Given the description of an element on the screen output the (x, y) to click on. 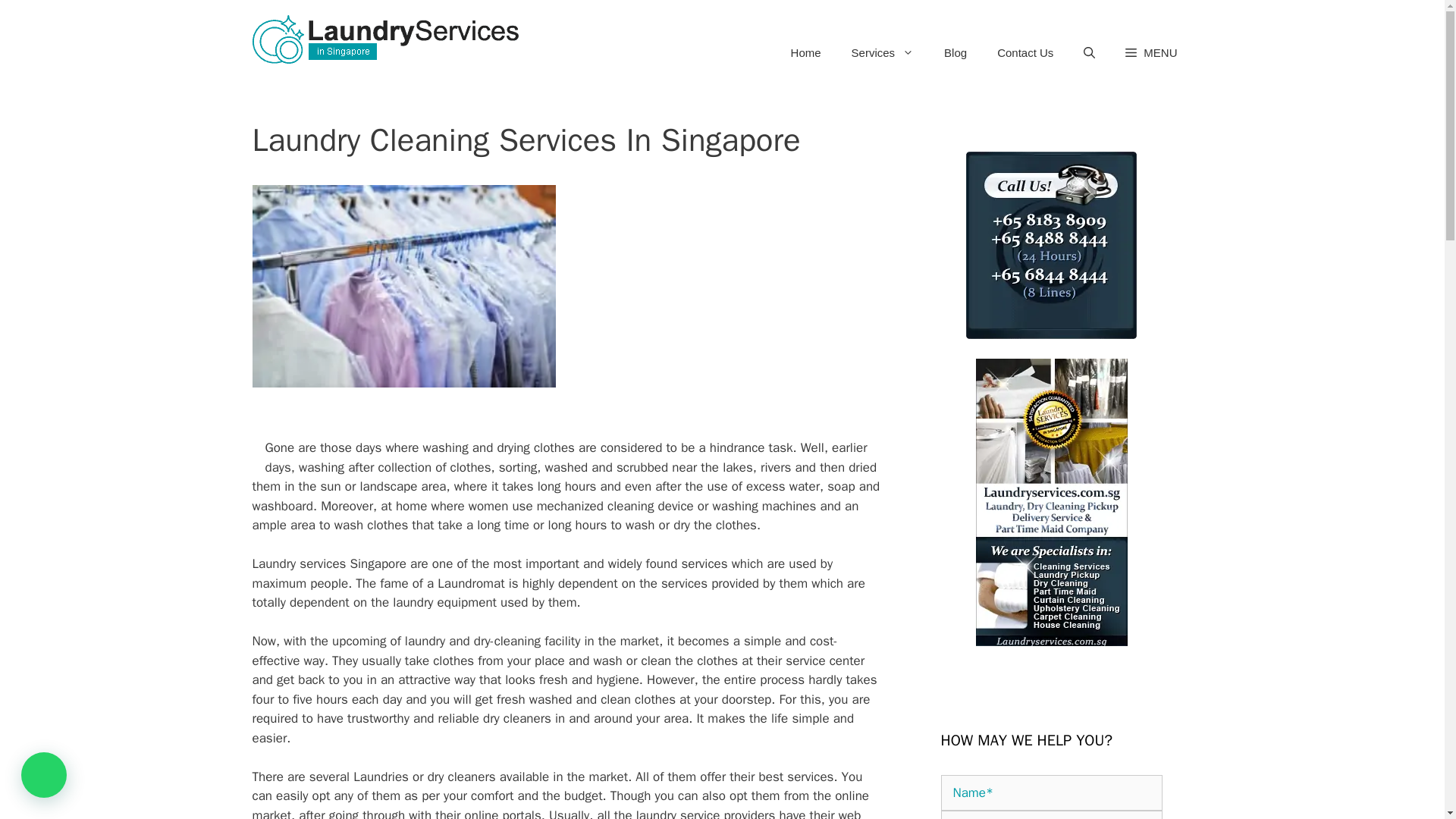
Home (805, 53)
Blog (954, 53)
Services (882, 53)
MENU (1150, 53)
Contact Us (1024, 53)
